Given the description of an element on the screen output the (x, y) to click on. 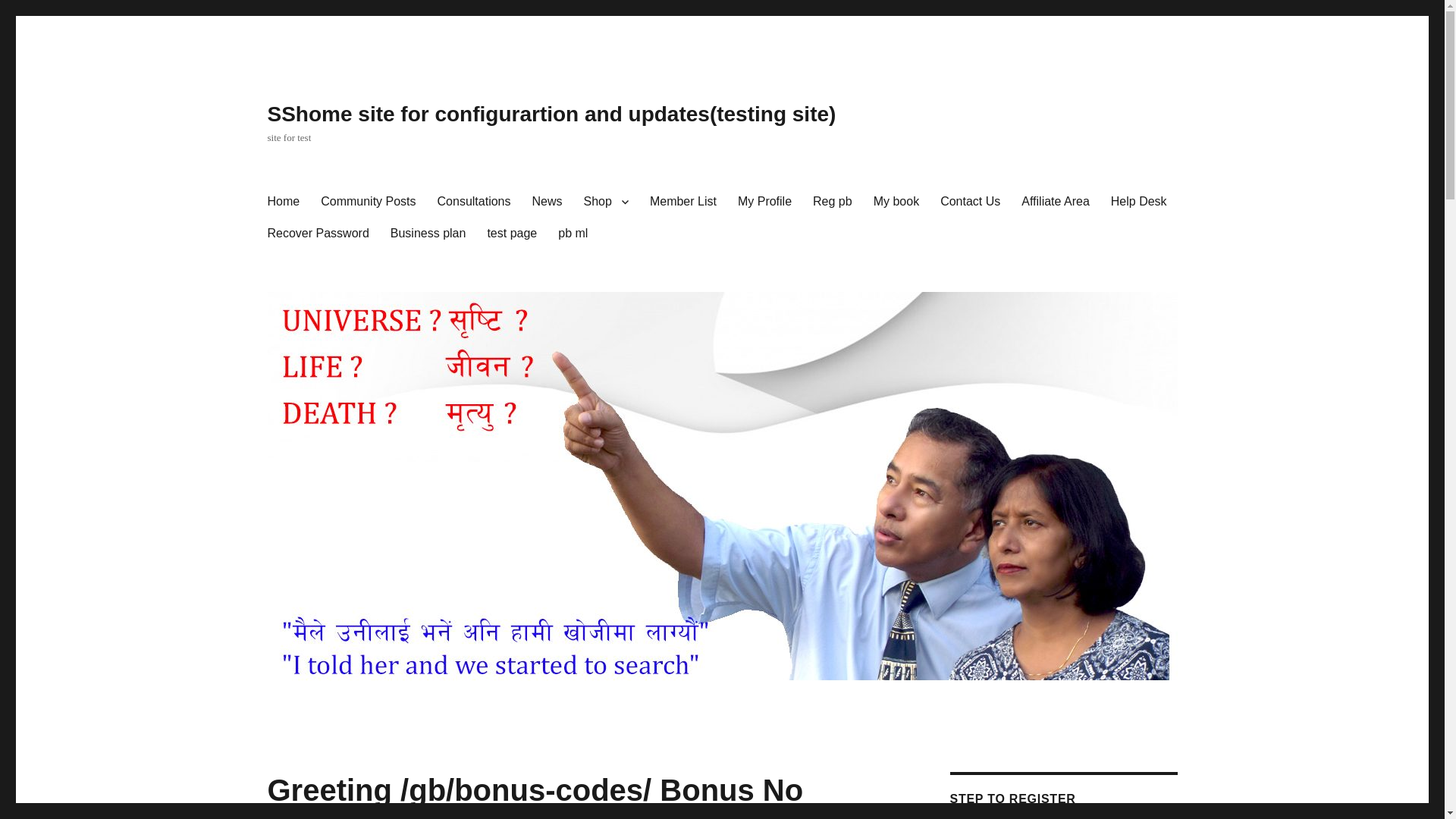
Community Posts (368, 201)
Business plan (428, 233)
My book (896, 201)
test page (511, 233)
My Profile (764, 201)
Affiliate Area (1055, 201)
Home (283, 201)
Shop (606, 201)
Recover Password (317, 233)
Reg pb (832, 201)
